Given the description of an element on the screen output the (x, y) to click on. 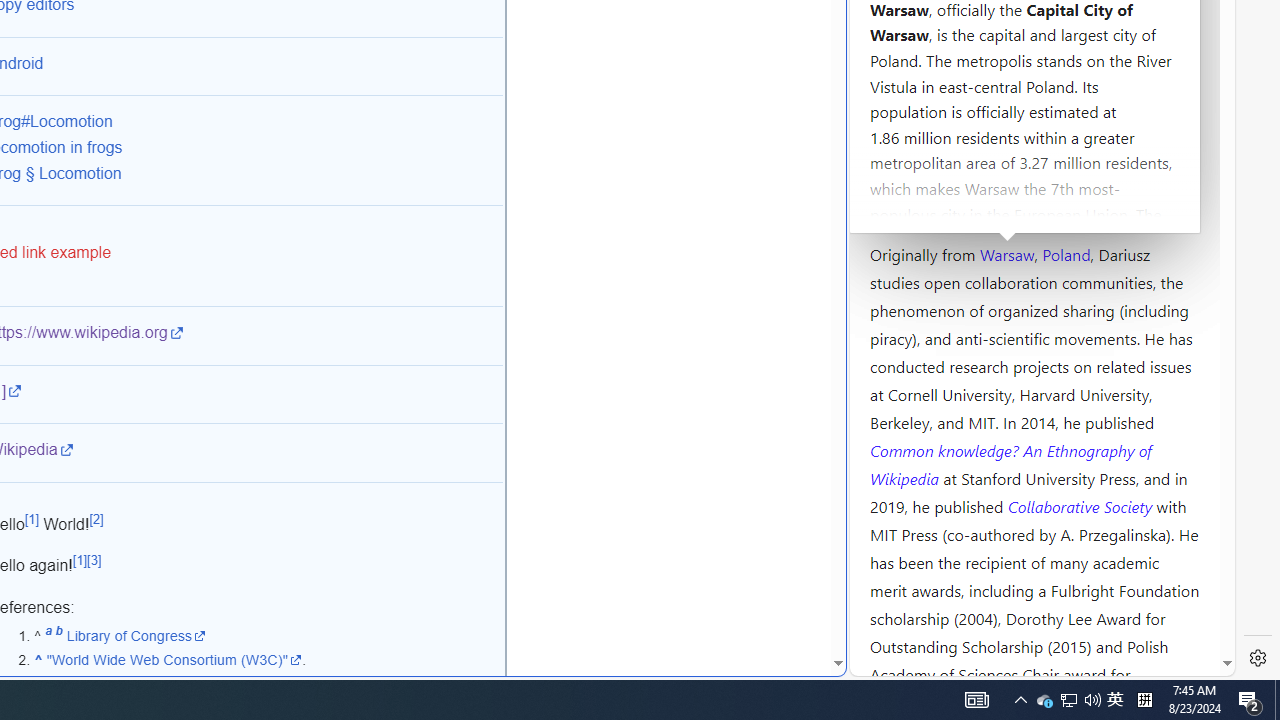
Jump up to: a (48, 635)
[3] (94, 560)
^ Jump up to:a b Library of Congress (267, 636)
